Given the description of an element on the screen output the (x, y) to click on. 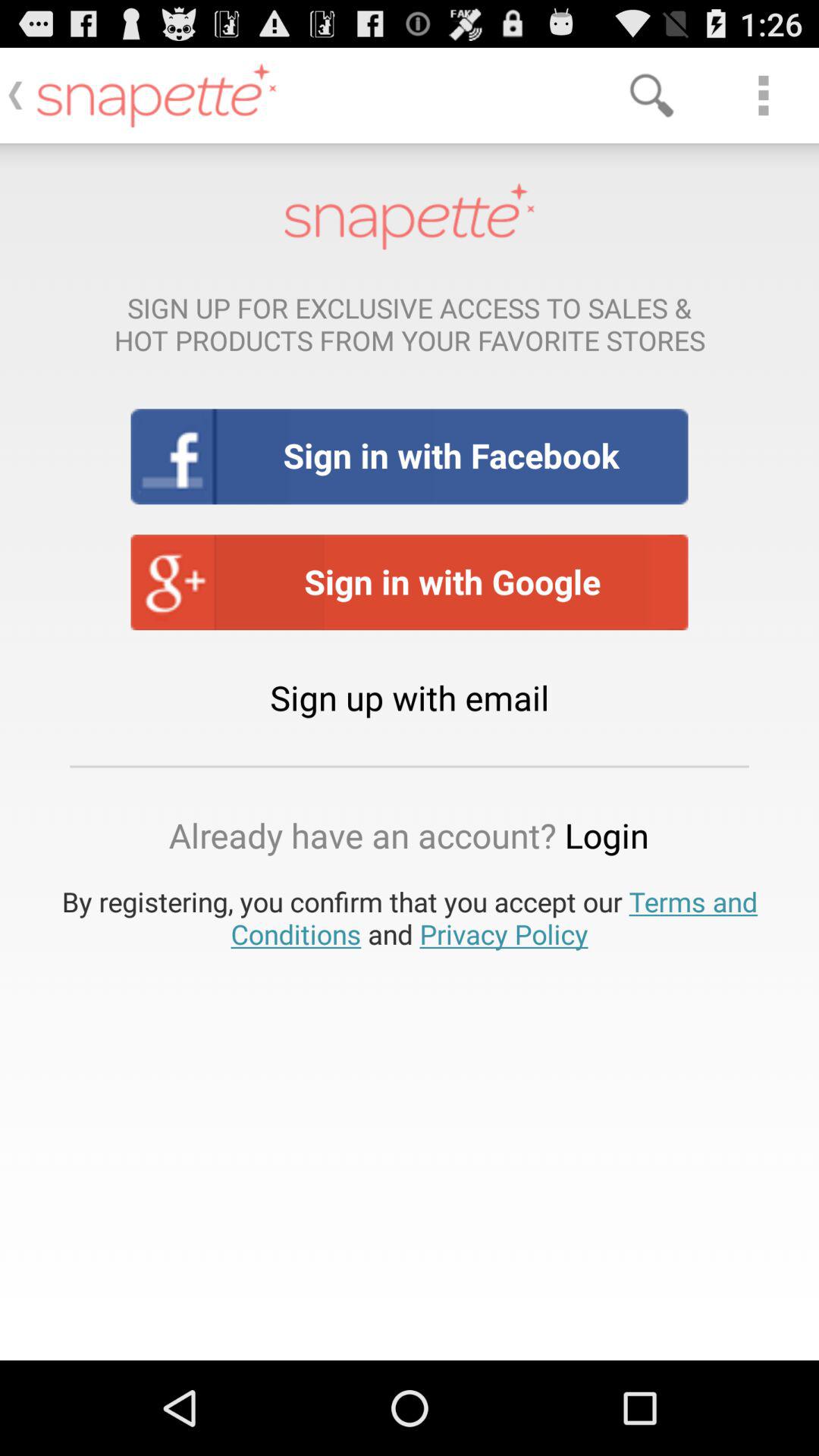
click icon below already have an button (409, 917)
